Given the description of an element on the screen output the (x, y) to click on. 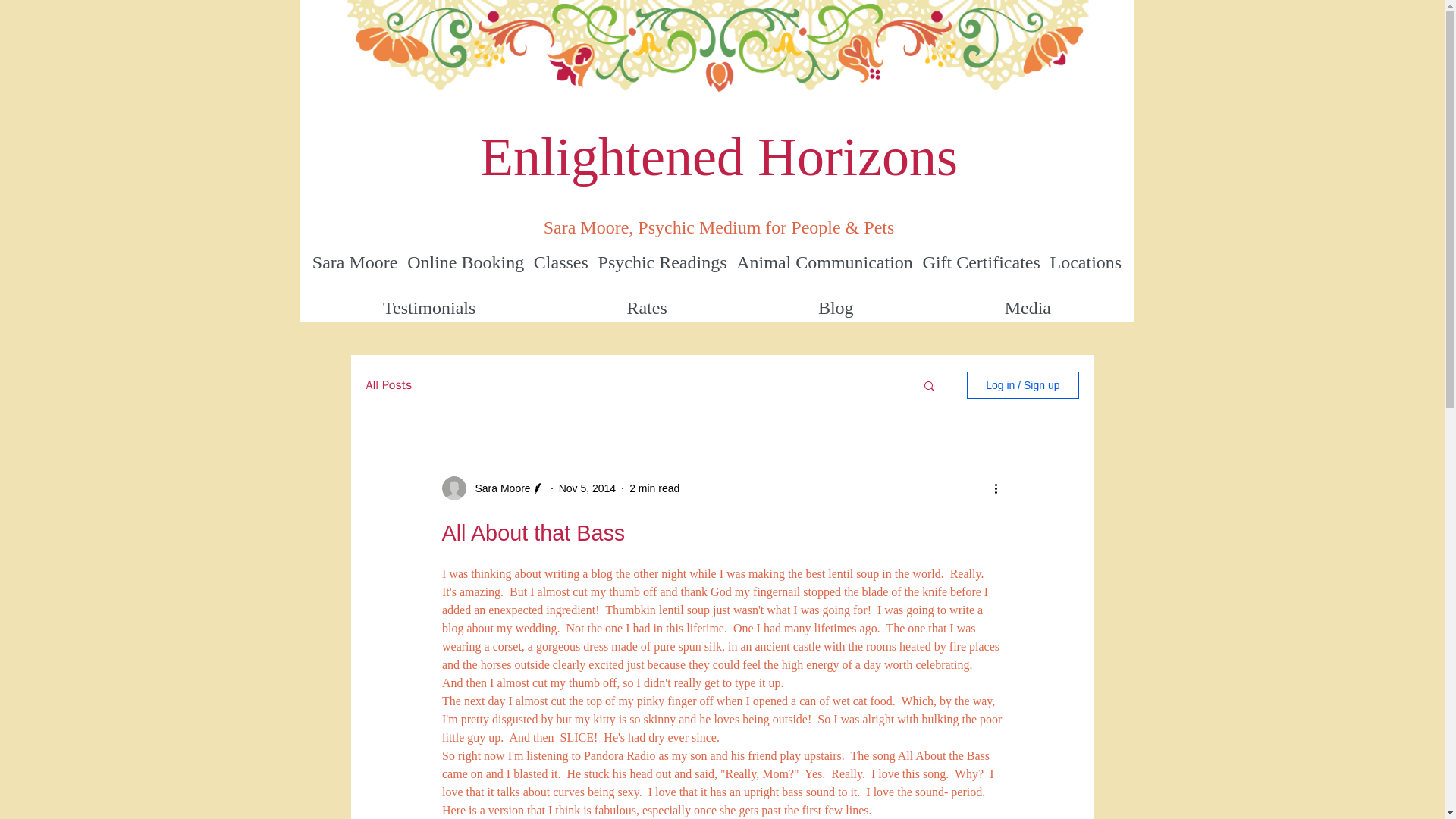
All Posts (388, 385)
Sara Moore (355, 262)
Animal Communication (824, 262)
Sara Moore (497, 488)
Nov 5, 2014 (587, 488)
Locations (1085, 262)
Media (1026, 307)
Rates (646, 307)
Gift Certificates (981, 262)
Online Booking (466, 262)
